Given the description of an element on the screen output the (x, y) to click on. 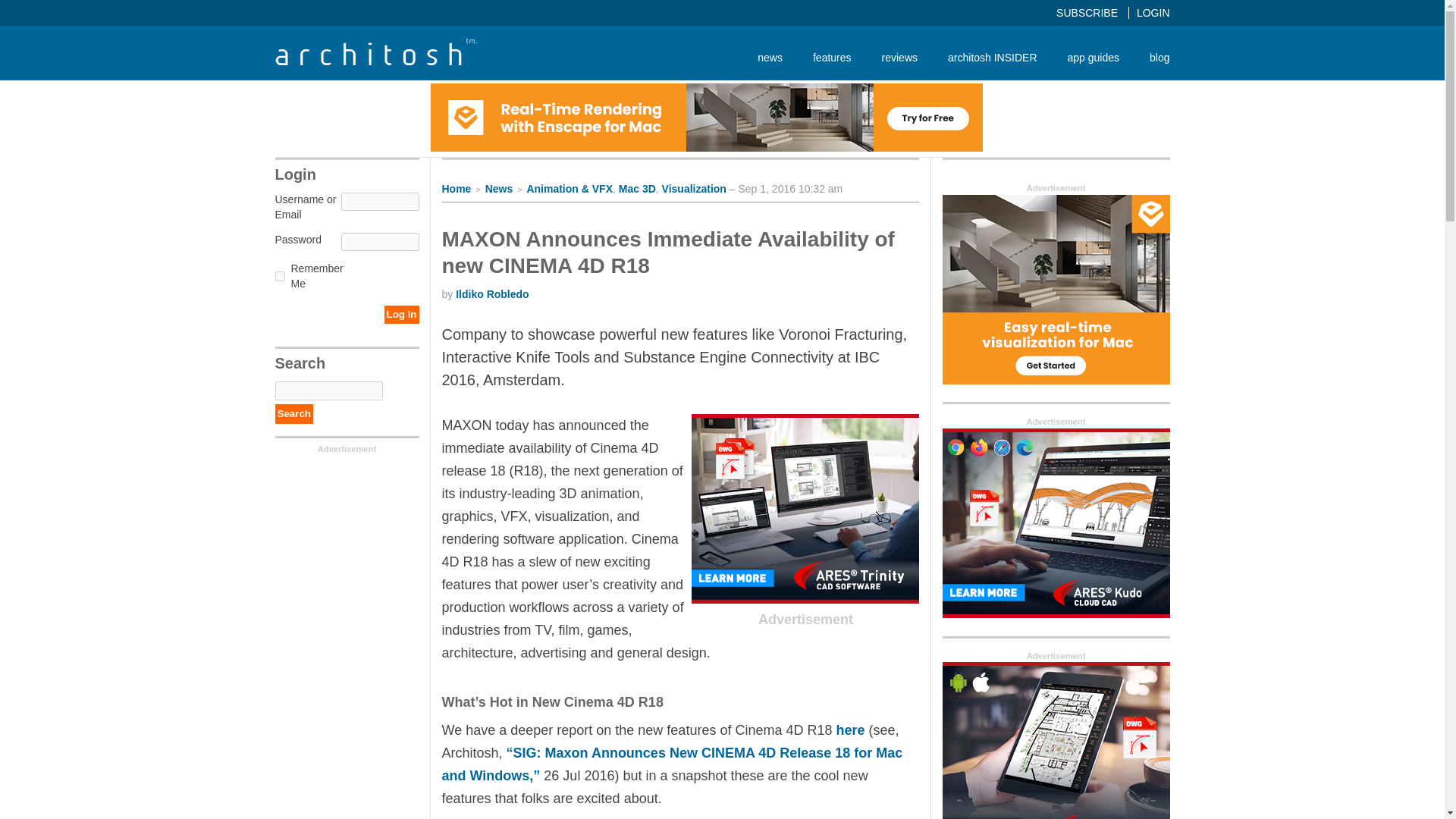
Posts by Ildiko Robledo (491, 294)
architosh INSIDER (992, 56)
MAXON Announces Immediate Availability of new CINEMA 4D R18 (667, 252)
here (849, 729)
LOGIN (1153, 12)
Home (455, 188)
Architosh (375, 51)
Search (294, 414)
blog (1151, 56)
features (831, 56)
News (498, 188)
app guides (1093, 56)
forever (279, 276)
Home (455, 188)
